Given the description of an element on the screen output the (x, y) to click on. 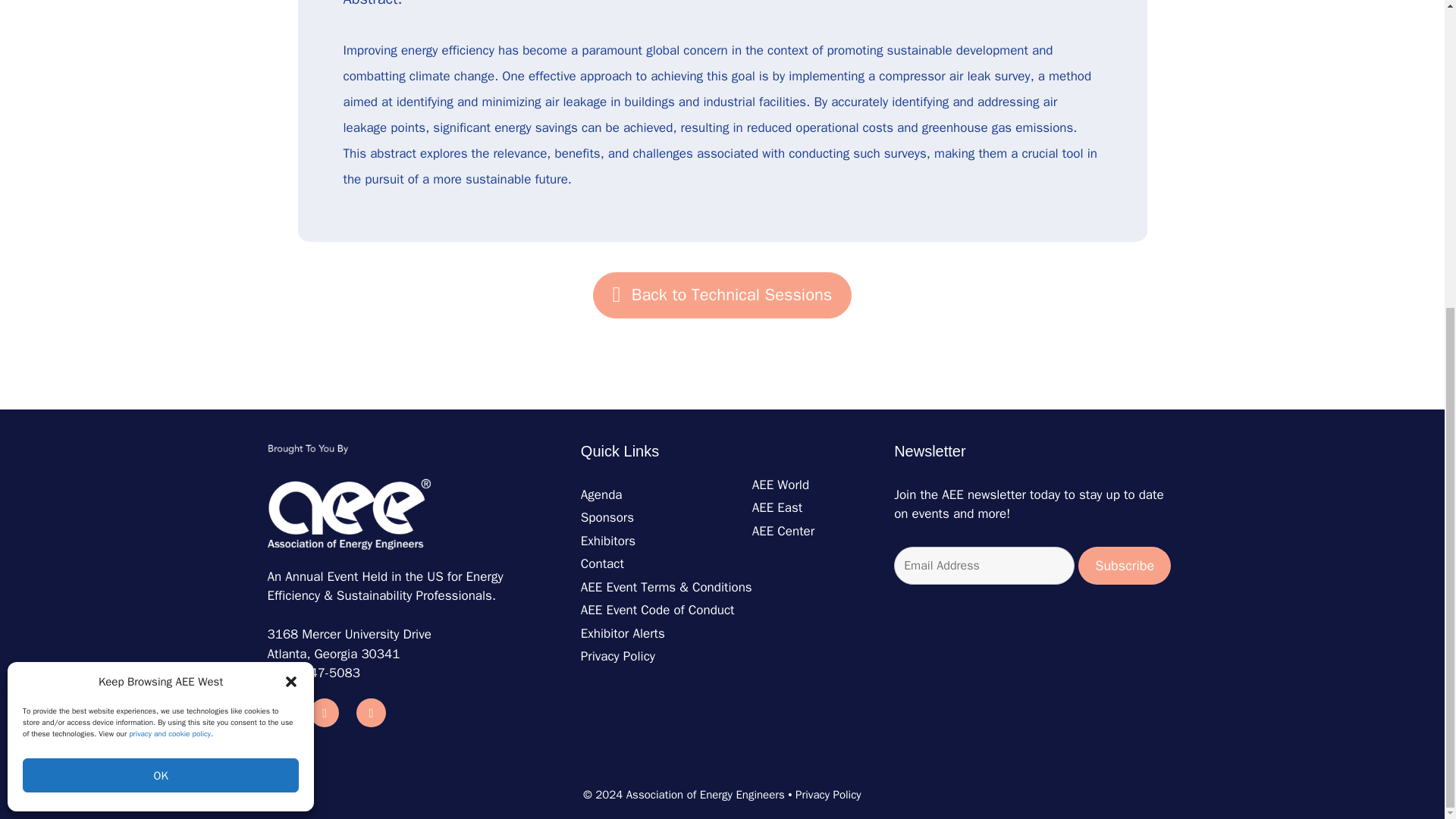
Facebook (324, 712)
Subscribe (1124, 565)
privacy and cookie policy (170, 247)
YouTube (370, 712)
LinkedIn (277, 712)
OK (160, 288)
